Given the description of an element on the screen output the (x, y) to click on. 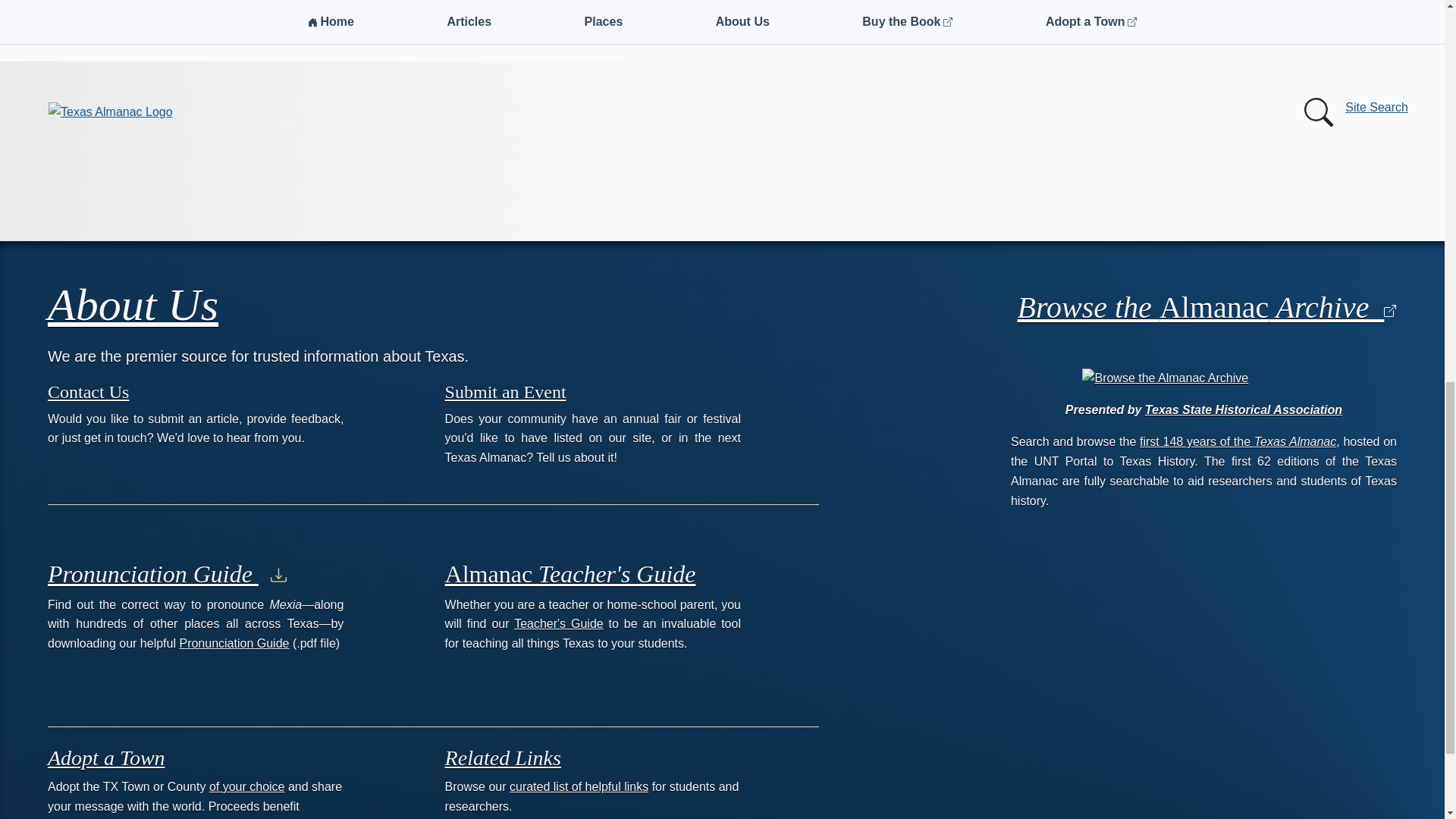
Adopt a Town (106, 757)
About Us (133, 305)
Pronunciation Guide (233, 643)
Teacher's Guide (558, 623)
Almanac Teacher's Guide (570, 574)
Pronunciation Guide (167, 574)
Contact Us (88, 392)
Site Search (1352, 111)
Submit an Event (505, 392)
